Given the description of an element on the screen output the (x, y) to click on. 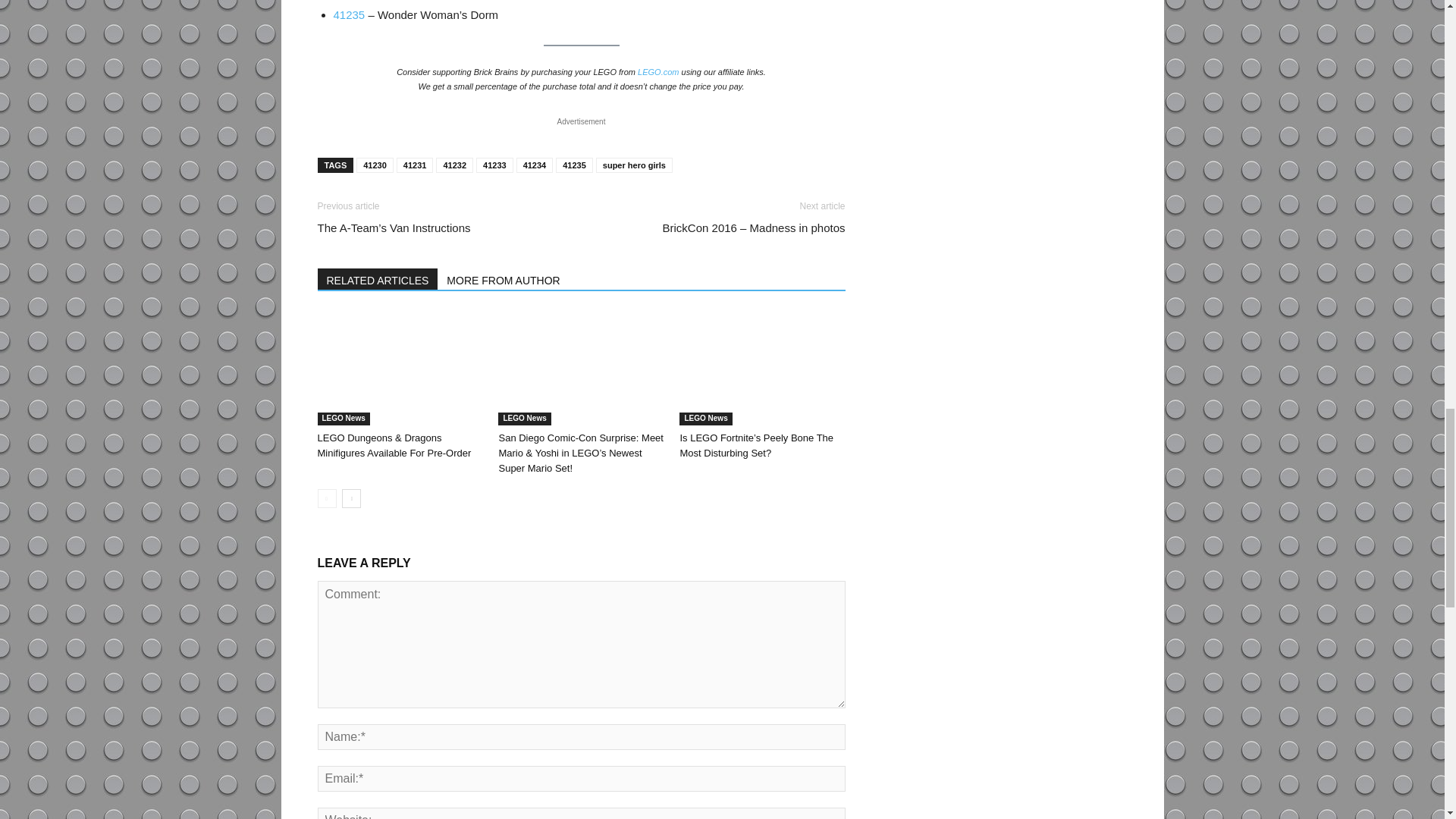
41235 (349, 14)
